Given the description of an element on the screen output the (x, y) to click on. 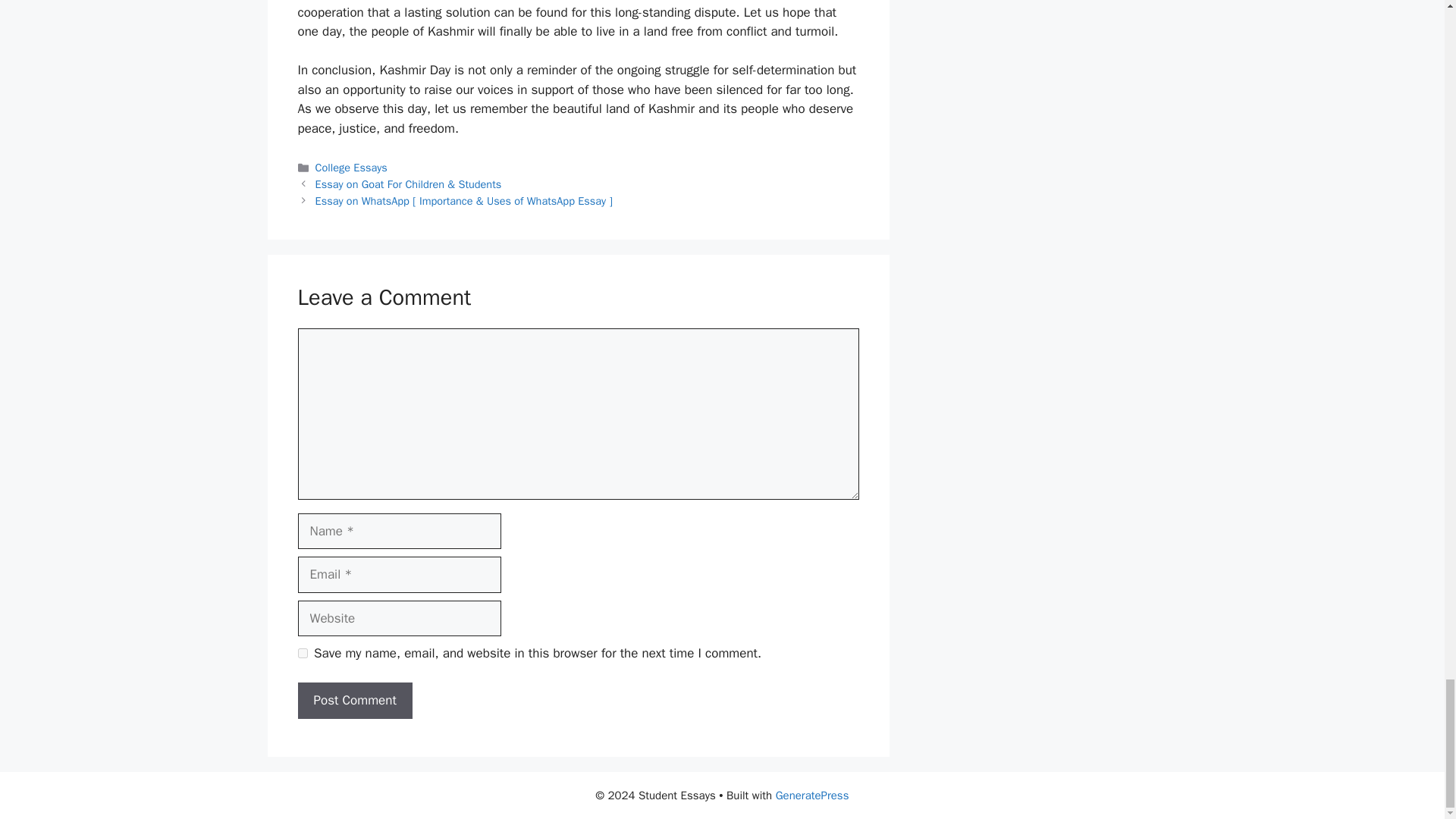
GeneratePress (812, 795)
College Essays (351, 167)
Post Comment (354, 700)
yes (302, 653)
Post Comment (354, 700)
